Given the description of an element on the screen output the (x, y) to click on. 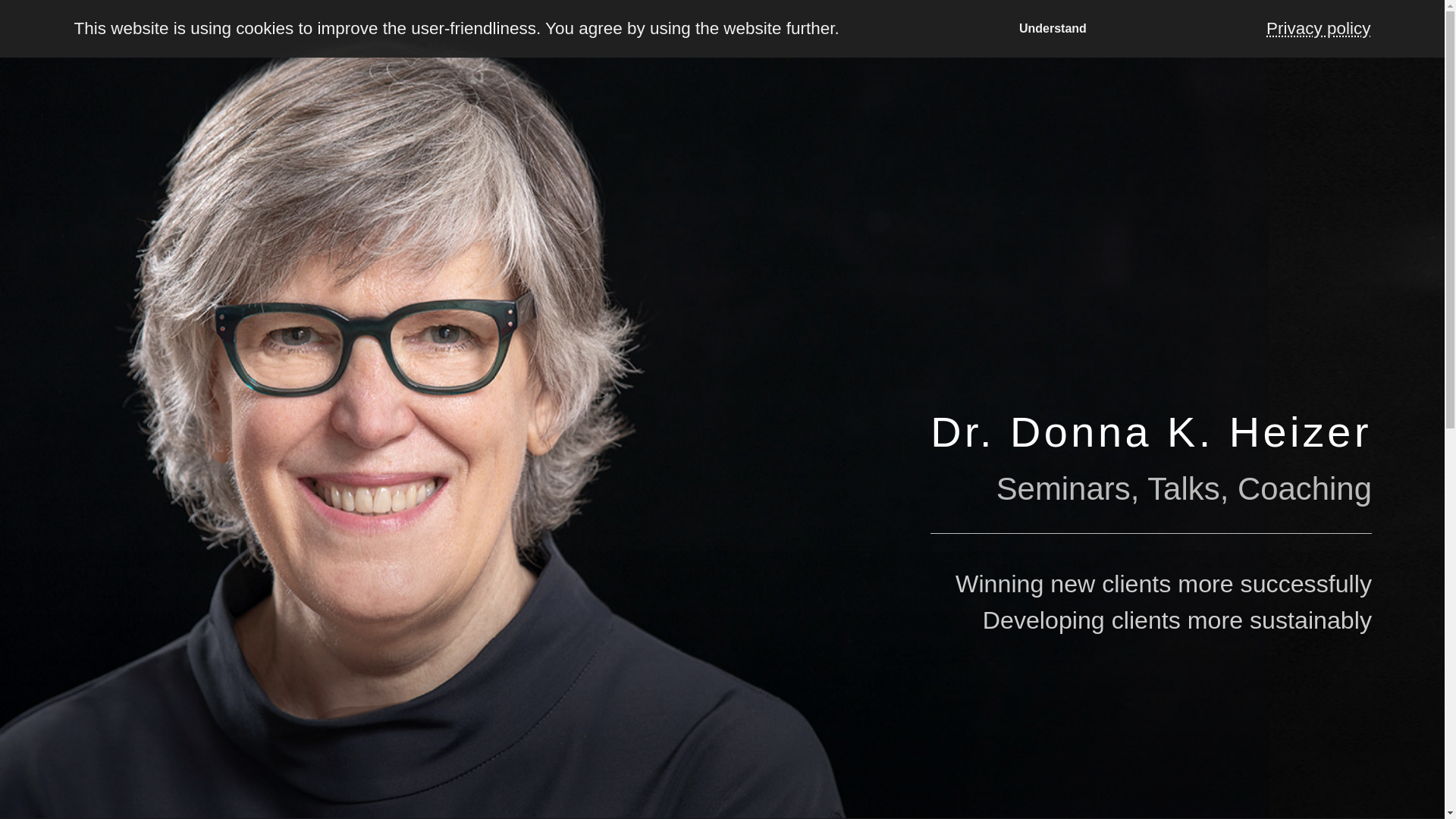
Understand (1052, 28)
Privacy policy (1318, 28)
Dr. Donna K. Heizer (1150, 431)
